Given the description of an element on the screen output the (x, y) to click on. 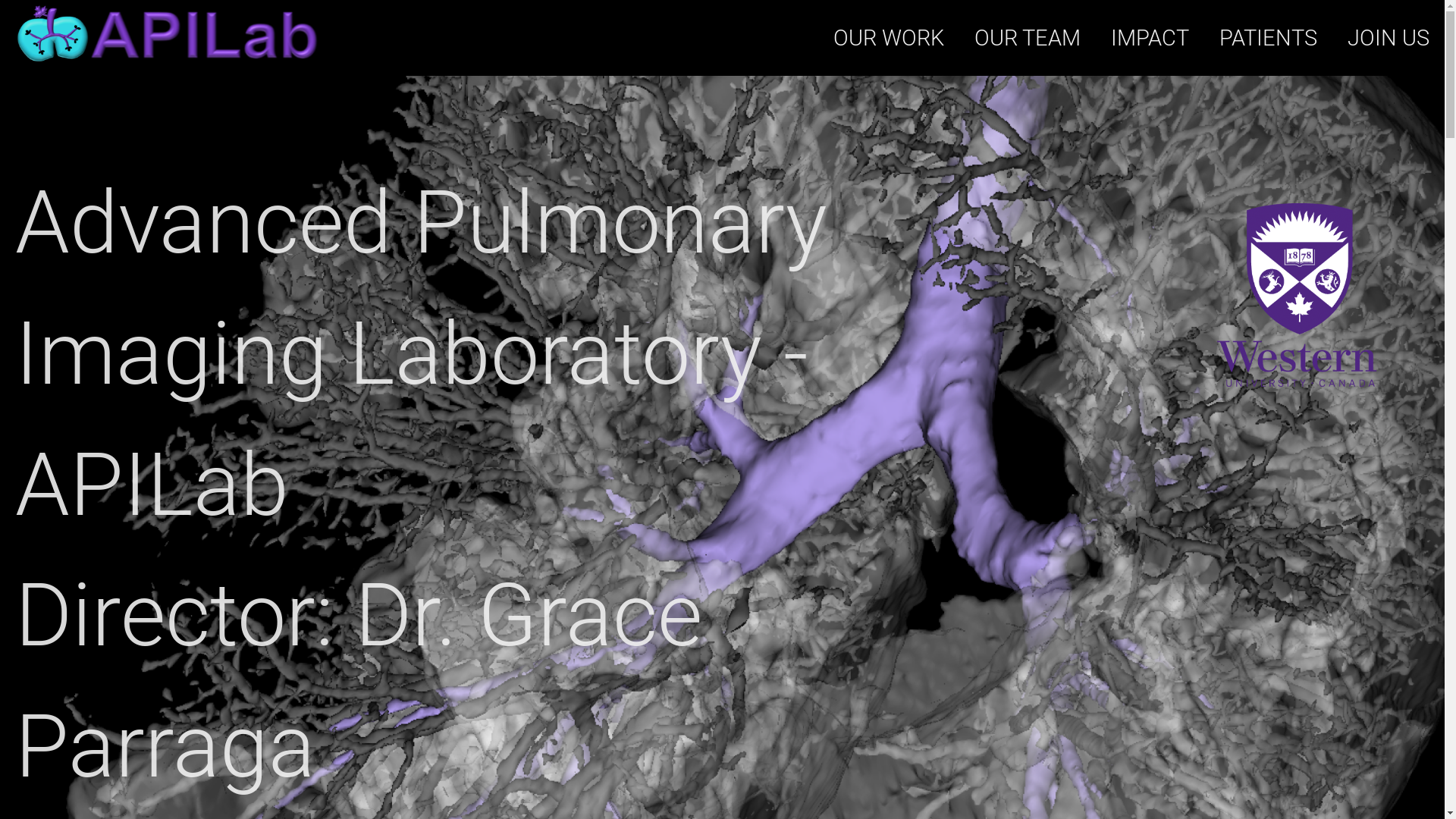
IMPACT Element type: text (1149, 37)
OUR TEAM Element type: text (1027, 37)
JOIN US Element type: text (1388, 37)
OUR WORK Element type: text (888, 37)
PATIENTS Element type: text (1268, 37)
